Given the description of an element on the screen output the (x, y) to click on. 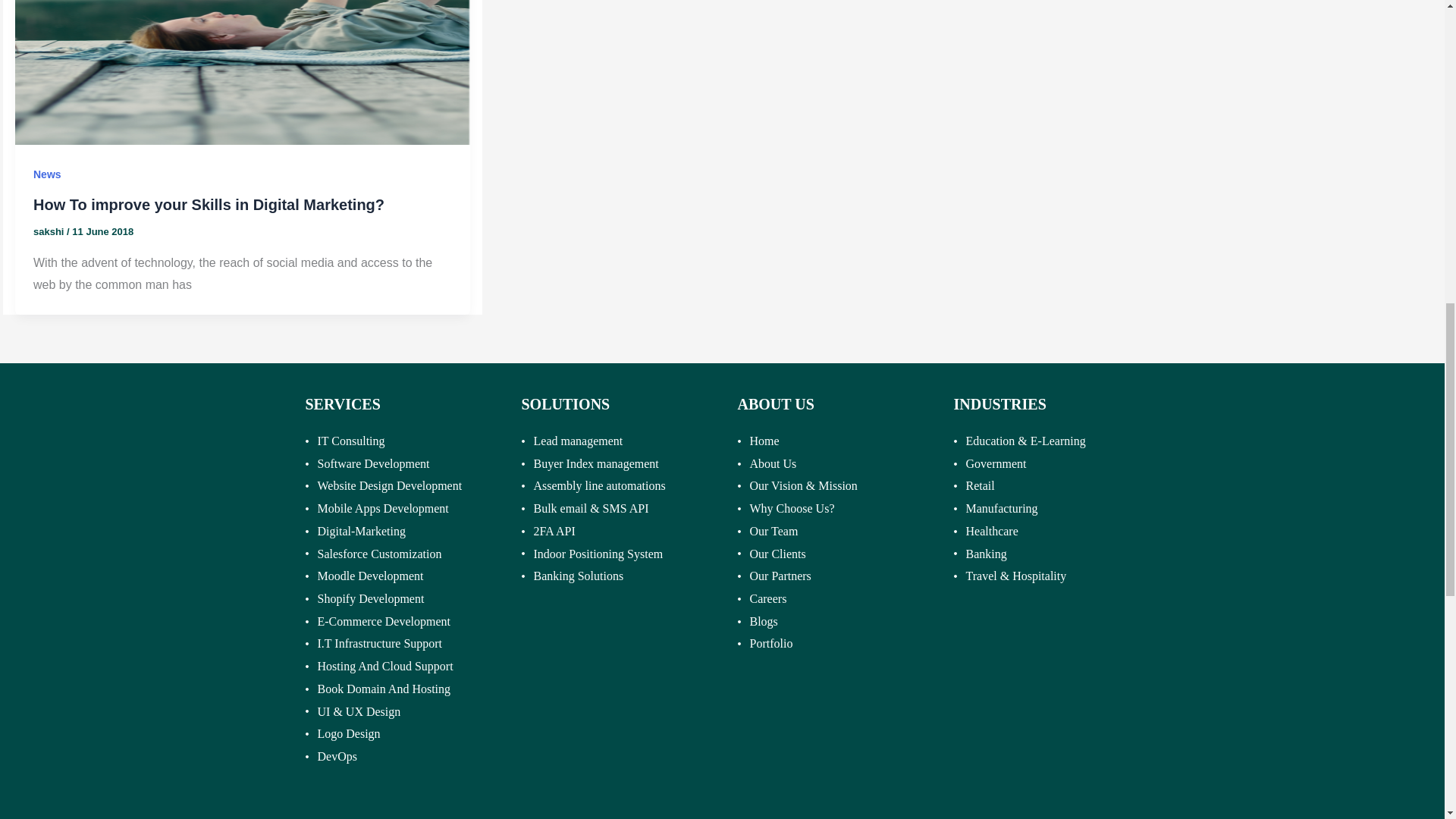
View all posts by sakshi (49, 231)
